Given the description of an element on the screen output the (x, y) to click on. 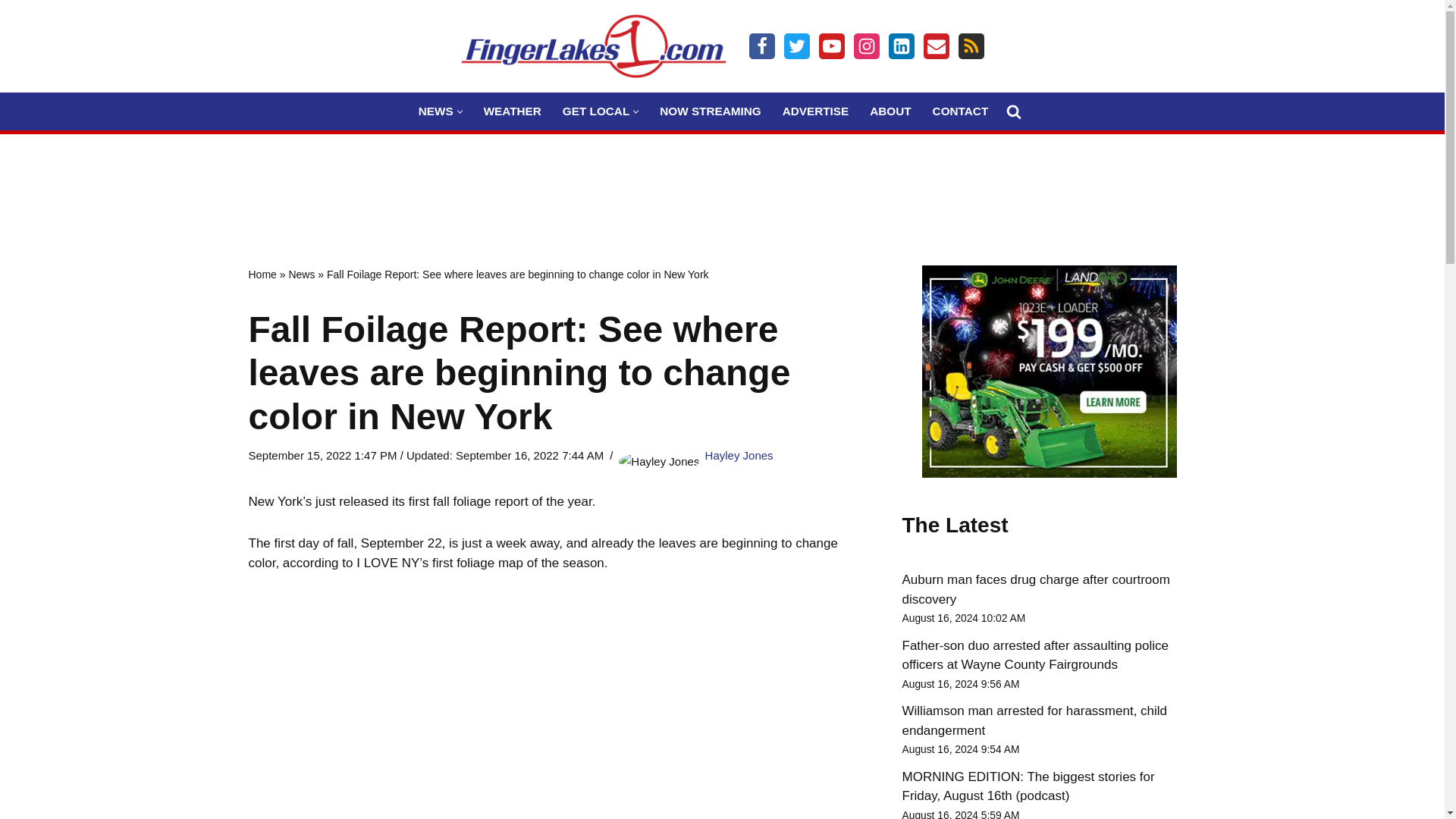
LinkIn (901, 45)
Facebook (761, 45)
CONTACT (960, 111)
Twitter (796, 45)
ADVERTISE (815, 111)
NEWS (435, 111)
WEATHER (512, 111)
GET LOCAL (595, 111)
ABOUT (890, 111)
NOW STREAMING (709, 111)
